Given the description of an element on the screen output the (x, y) to click on. 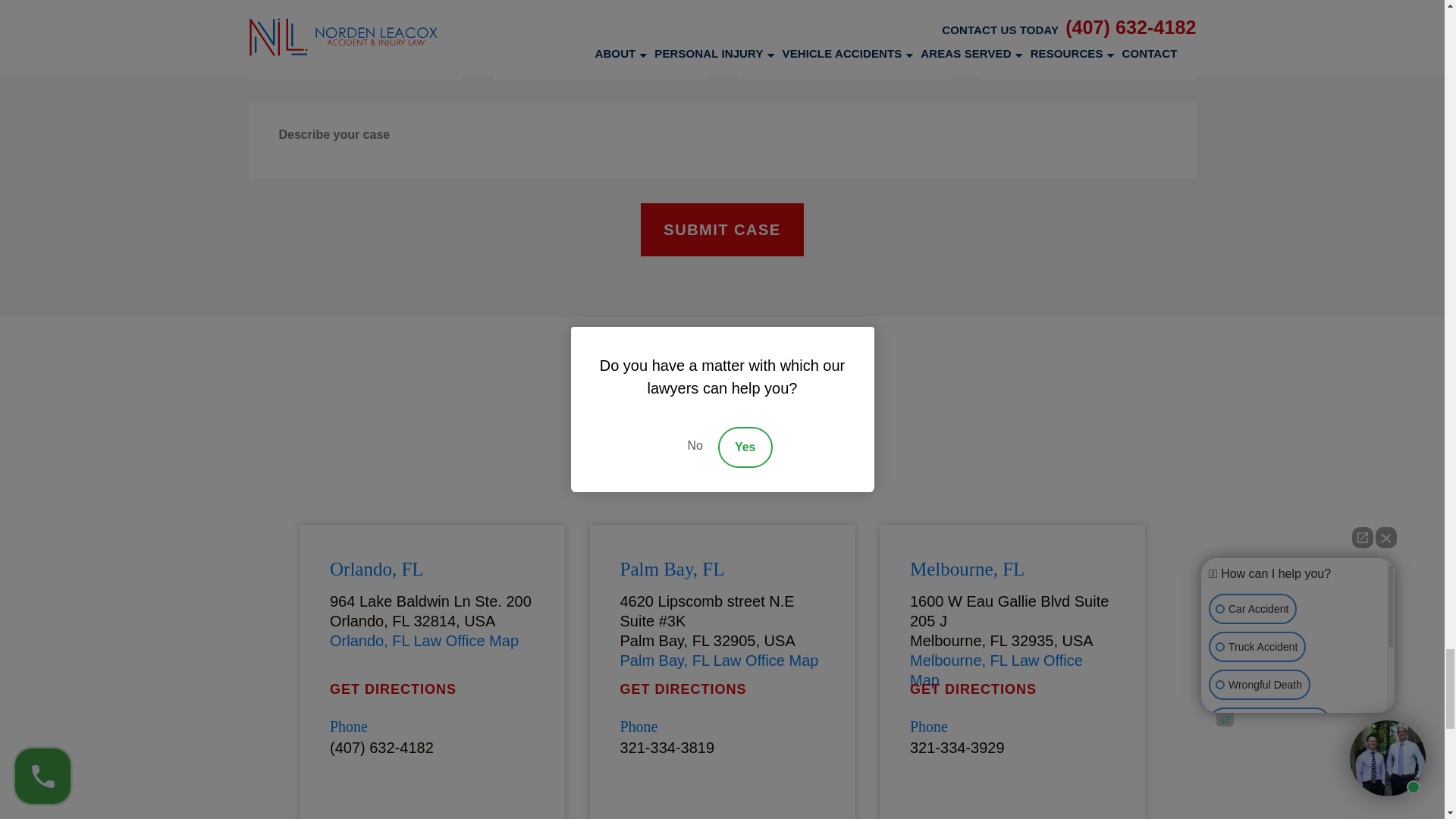
Submit Case (721, 229)
